Given the description of an element on the screen output the (x, y) to click on. 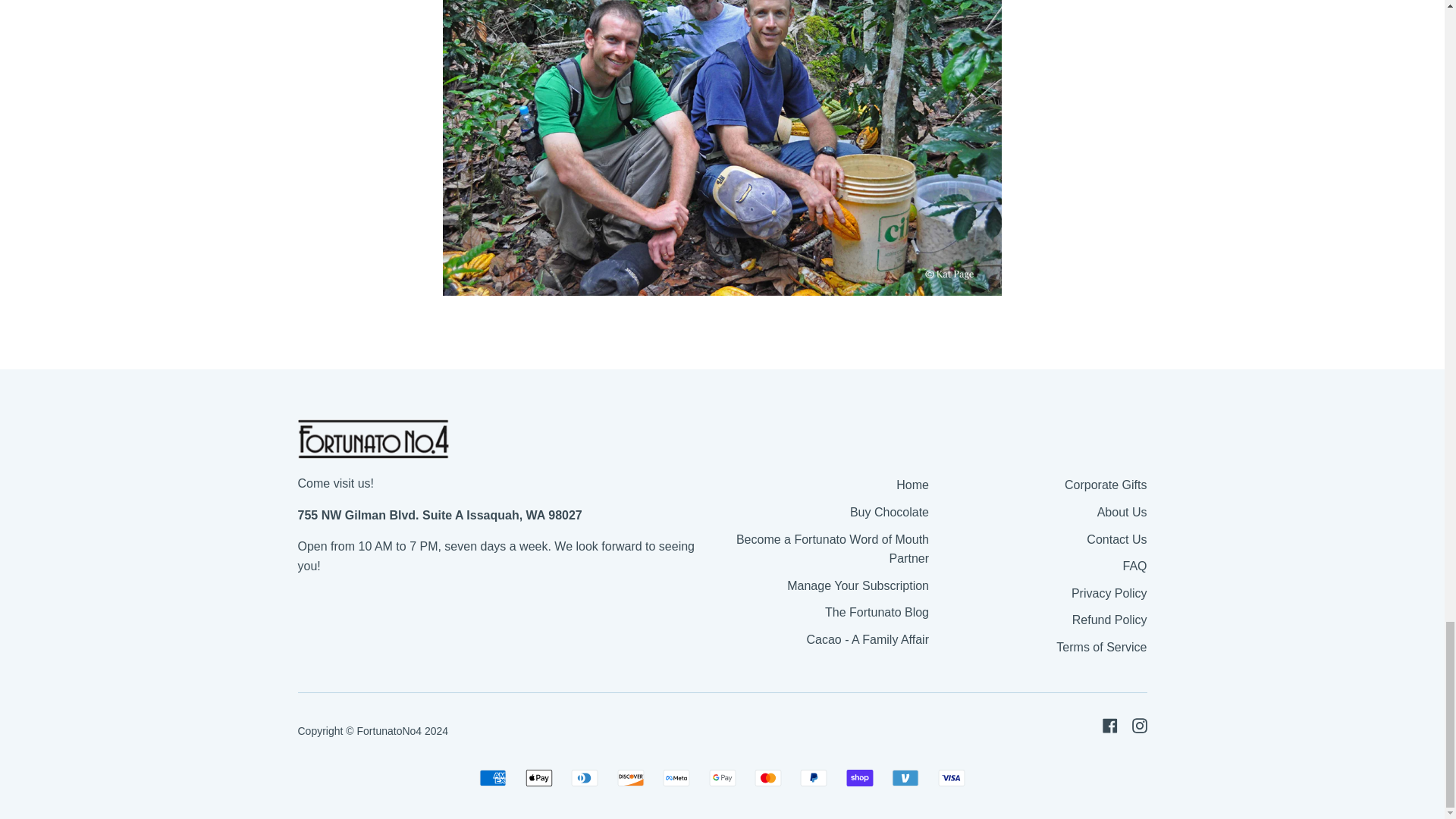
Google Pay (721, 777)
Venmo (904, 777)
FortunatoNo4 on Instagram (1139, 725)
Shop Pay (859, 777)
Meta Pay (676, 777)
Apple Pay (539, 777)
American Express (492, 777)
Diners Club (584, 777)
FortunatoNo4 on Facebook (1110, 725)
Discover (630, 777)
